Given the description of an element on the screen output the (x, y) to click on. 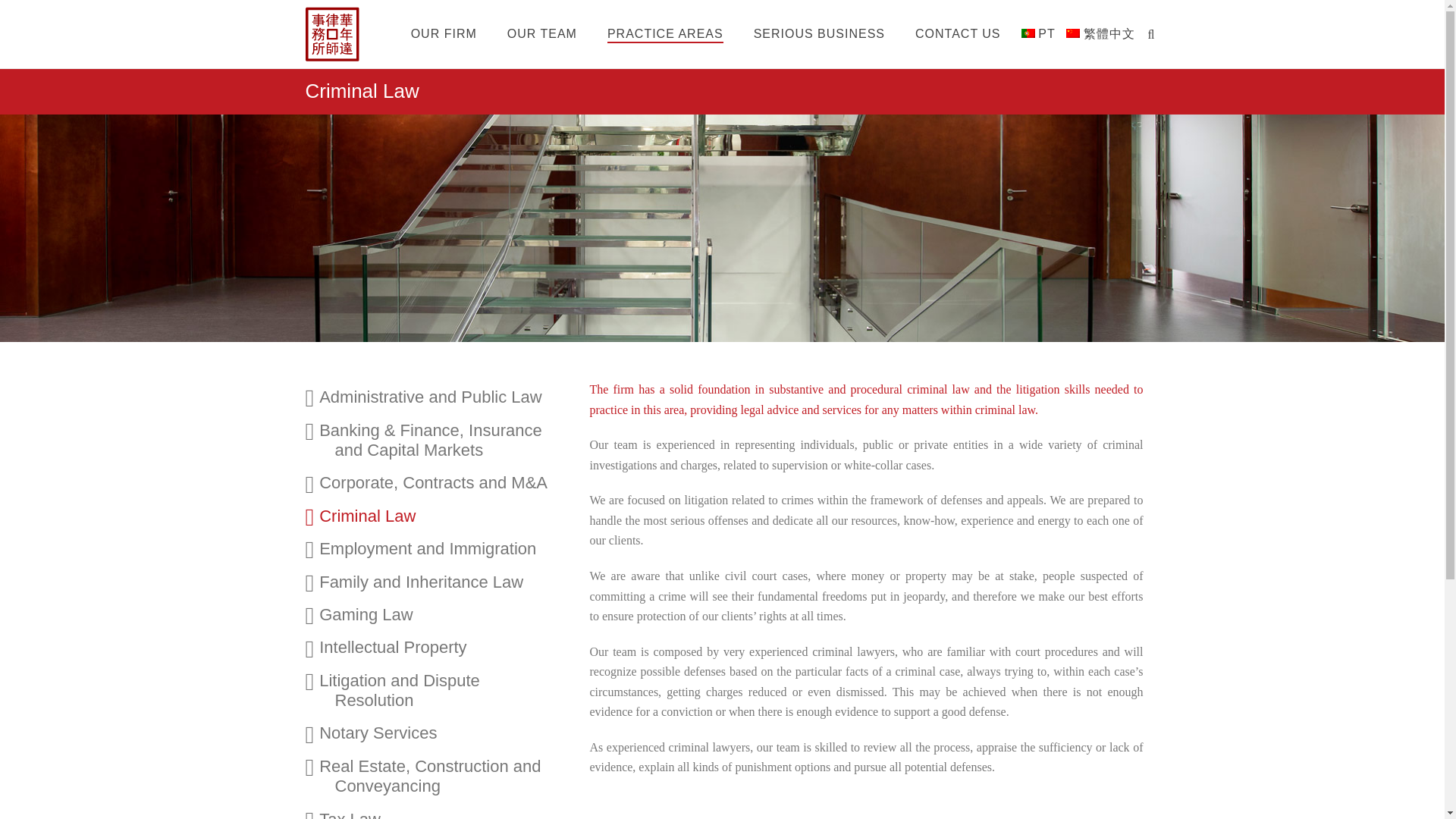
CONTACT US (957, 34)
Employment and Immigration (445, 548)
Tax Law (445, 812)
Criminal Law (445, 516)
Notary Services (445, 733)
PT (1038, 34)
OUR FIRM (444, 34)
Family and Inheritance Law (445, 582)
Administrative and Public Law (445, 397)
Litigation and Dispute Resolution (445, 690)
PT (1038, 34)
OUR TEAM (542, 34)
SERIOUS BUSINESS (818, 34)
Gaming Law (445, 614)
Intellectual Property (445, 647)
